Given the description of an element on the screen output the (x, y) to click on. 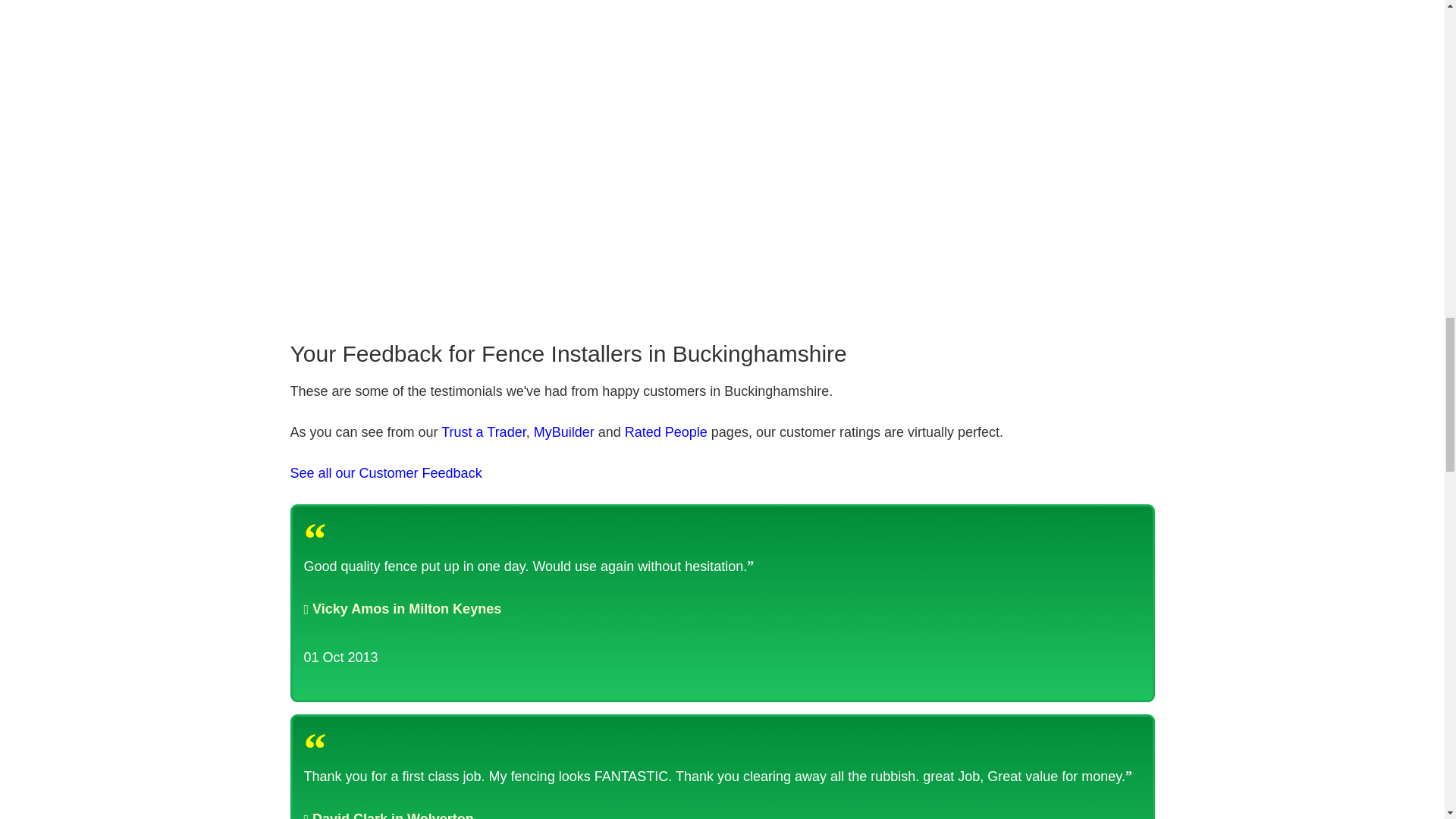
MyBuilder (564, 432)
Trust a Trader (483, 432)
See all our Customer Feedback (385, 473)
Rated People (665, 432)
